Given the description of an element on the screen output the (x, y) to click on. 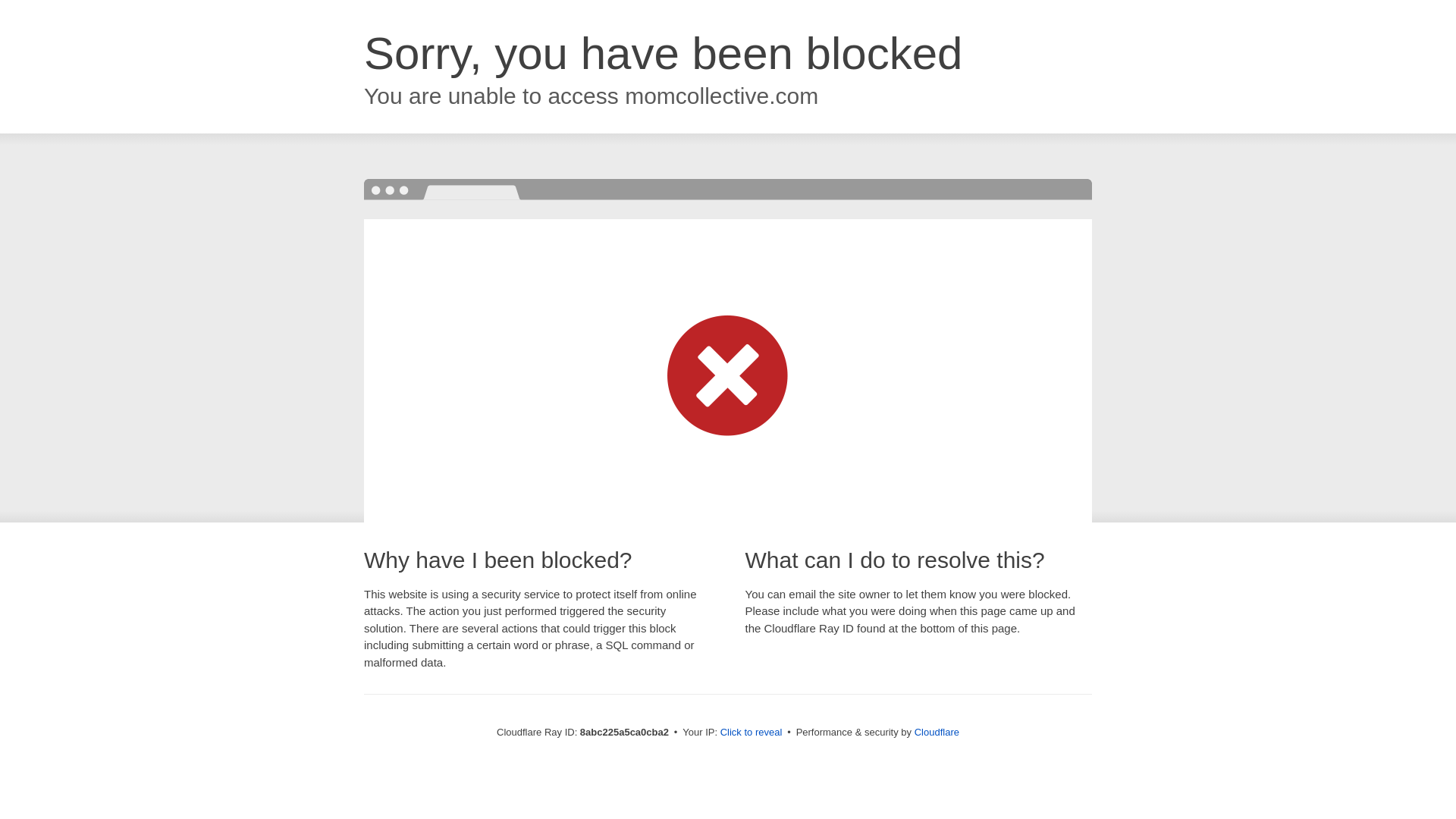
Click to reveal (751, 732)
Cloudflare (936, 731)
